Given the description of an element on the screen output the (x, y) to click on. 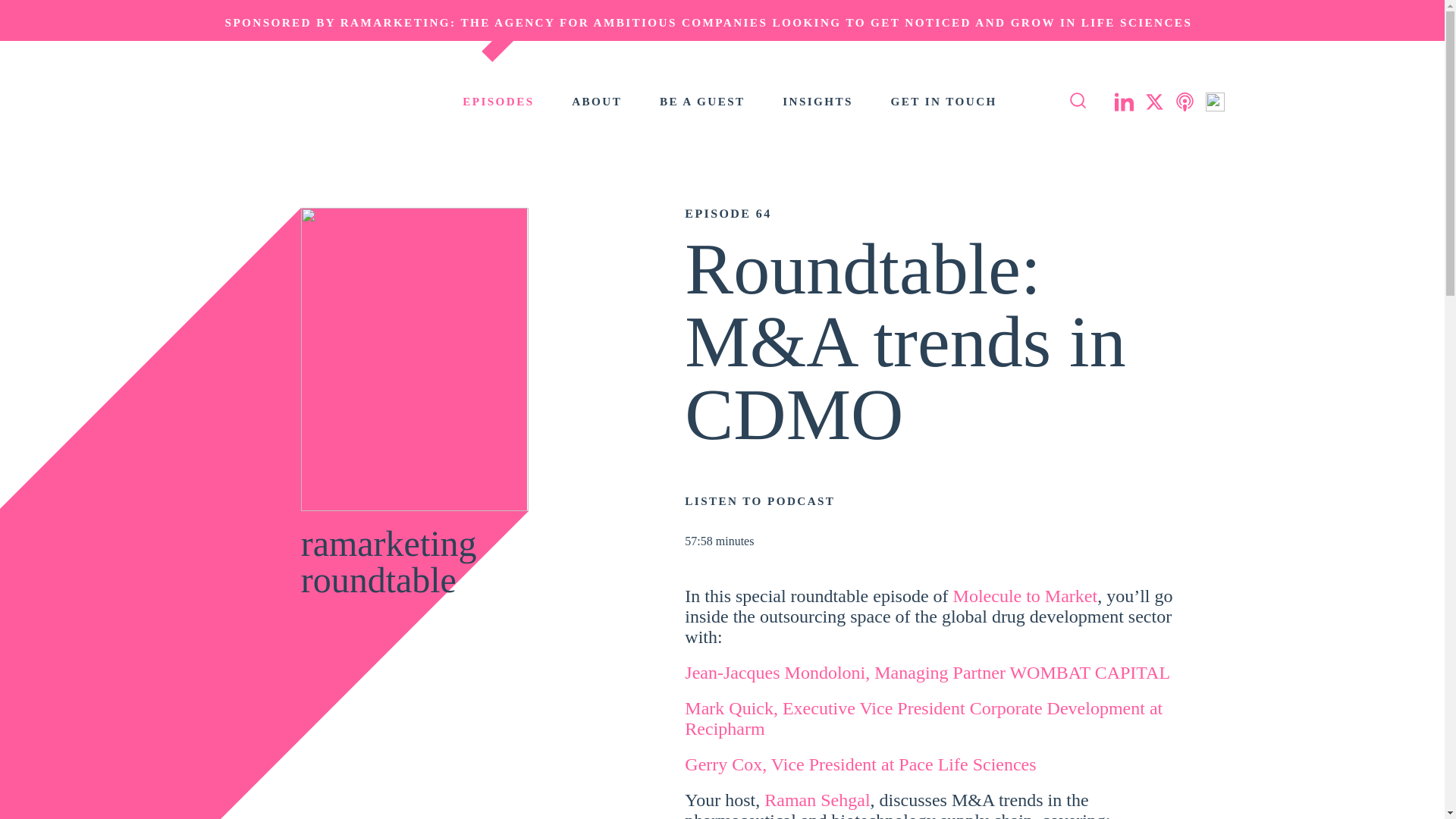
Jean-Jacques Mondoloni, Managing Partner WOMBAT CAPITAL (927, 672)
INSIGHTS (818, 101)
ABOUT (596, 101)
Gerry Cox, Vice President at Pace Life Sciences (859, 763)
Raman Sehgal (816, 799)
LISTEN TO PODCAST (932, 500)
GET IN TOUCH (944, 101)
BE A GUEST (702, 101)
